Given the description of an element on the screen output the (x, y) to click on. 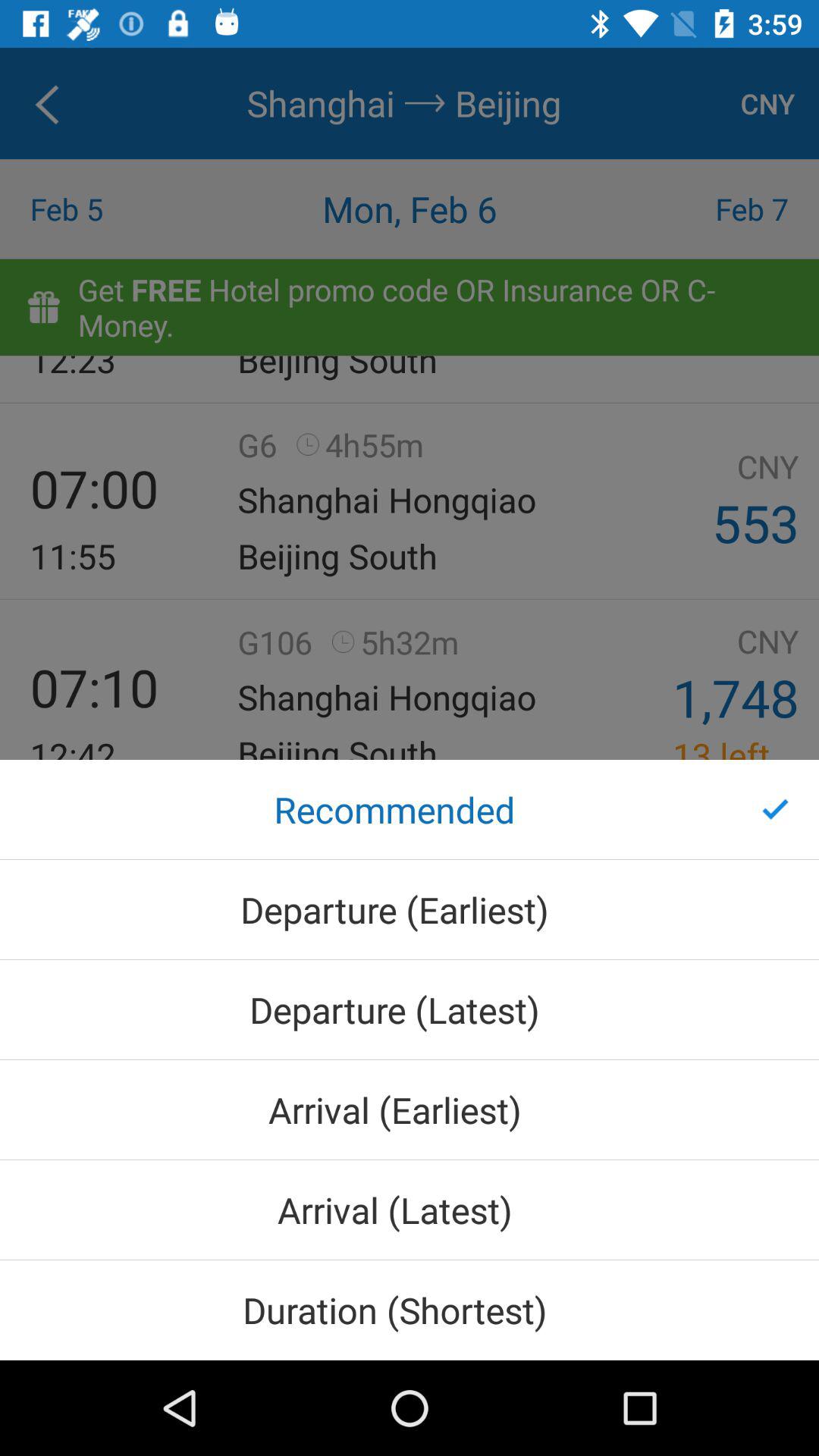
tap duration (shortest) (409, 1309)
